Given the description of an element on the screen output the (x, y) to click on. 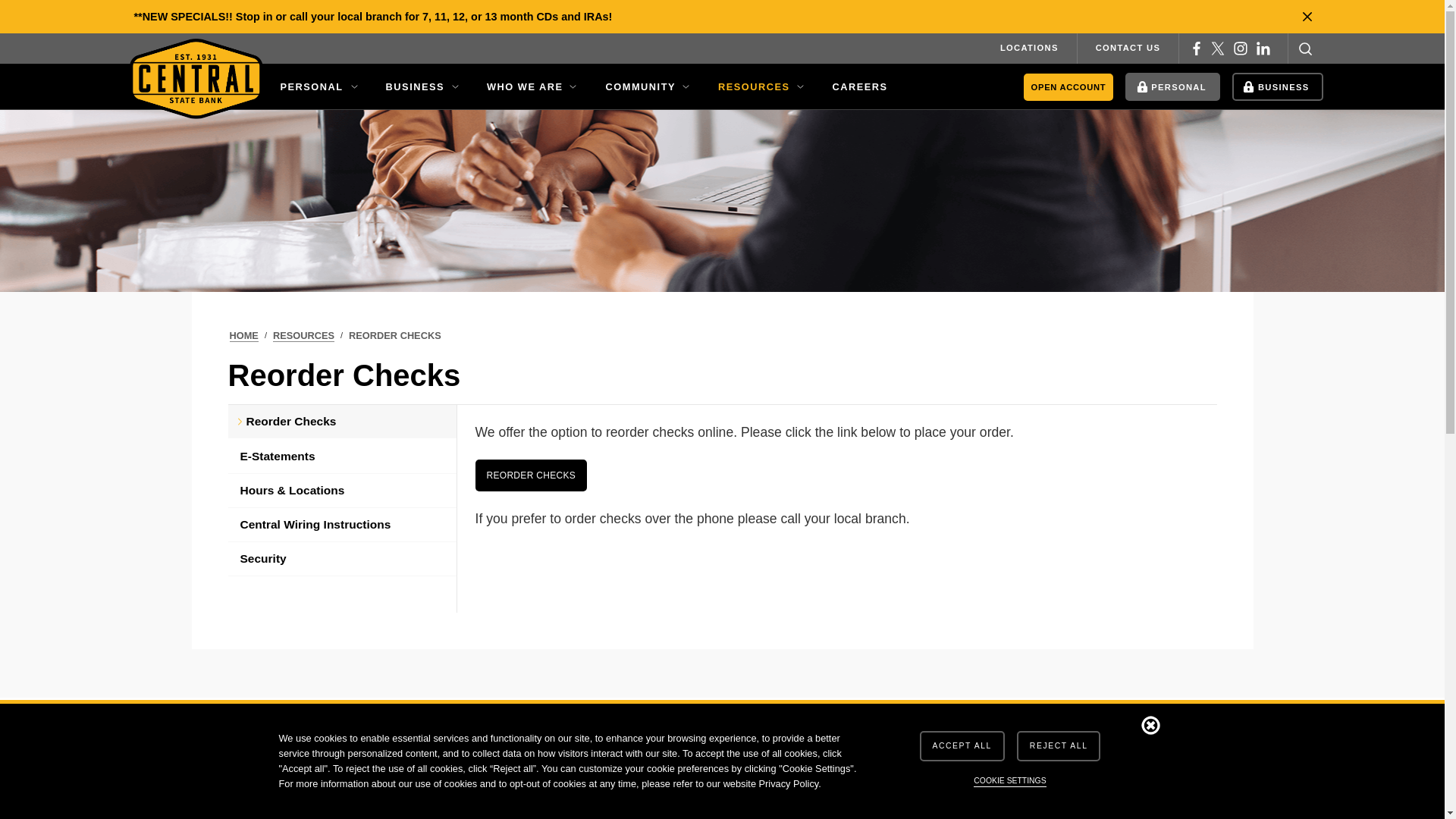
RESOURCES Element type: text (303, 335)
REJECT ALL Element type: text (1058, 746)
SKIP TO MAIN CONTENT Element type: text (0, 0)
Instagram Link Element type: text (1240, 48)
E-Statements Element type: text (341, 456)
Security Element type: text (341, 559)
CLOSE ALERT Element type: text (1307, 16)
REORDER CHECKS Element type: text (394, 335)
CONTACT US Element type: text (1128, 48)
Reorder Checks Element type: text (341, 421)
HOME Element type: text (243, 335)
LOCATIONS Element type: text (1029, 48)
OPEN ACCOUNT Element type: text (1068, 86)
Central Wiring Instructions Element type: text (341, 525)
Dismiss Banner Element type: hover (1149, 724)
REORDER CHECKS Element type: text (530, 475)
CAREERS Element type: text (863, 86)
ACCEPT ALL Element type: text (961, 746)
COOKIE SETTINGS Element type: text (1009, 781)
Search Website Element type: text (1304, 48)
Facebook Link Element type: text (1196, 48)
Hours & Locations Element type: text (341, 490)
Twitter Link Element type: text (1217, 48)
LinkedIn Link Element type: text (1263, 48)
